Given the description of an element on the screen output the (x, y) to click on. 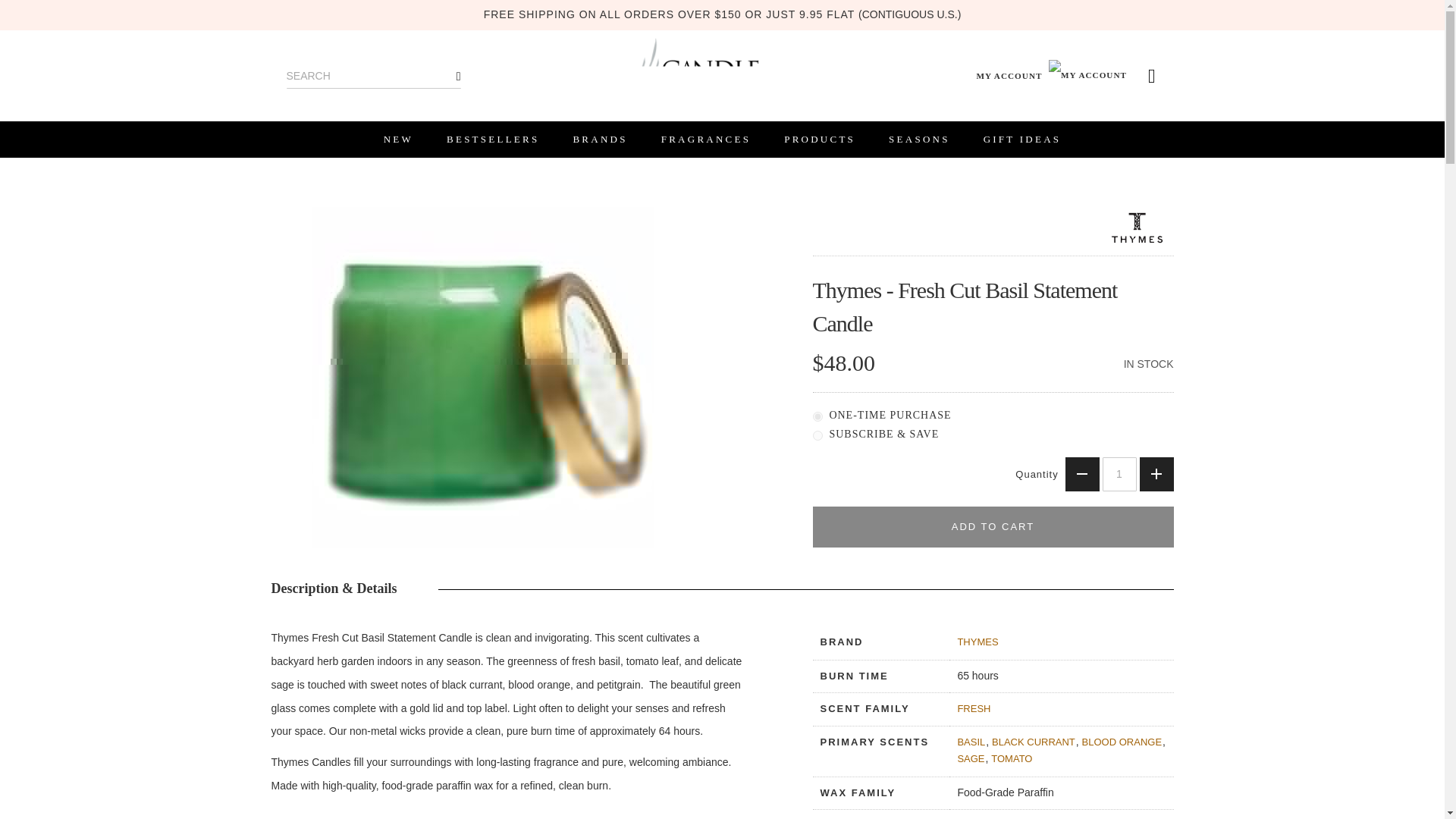
NEW (397, 139)
CandleDelirium Candles (697, 65)
BESTSELLERS (492, 139)
MY ACCOUNT (1053, 75)
0 (817, 416)
1 (1119, 473)
BRANDS (599, 139)
